Given the description of an element on the screen output the (x, y) to click on. 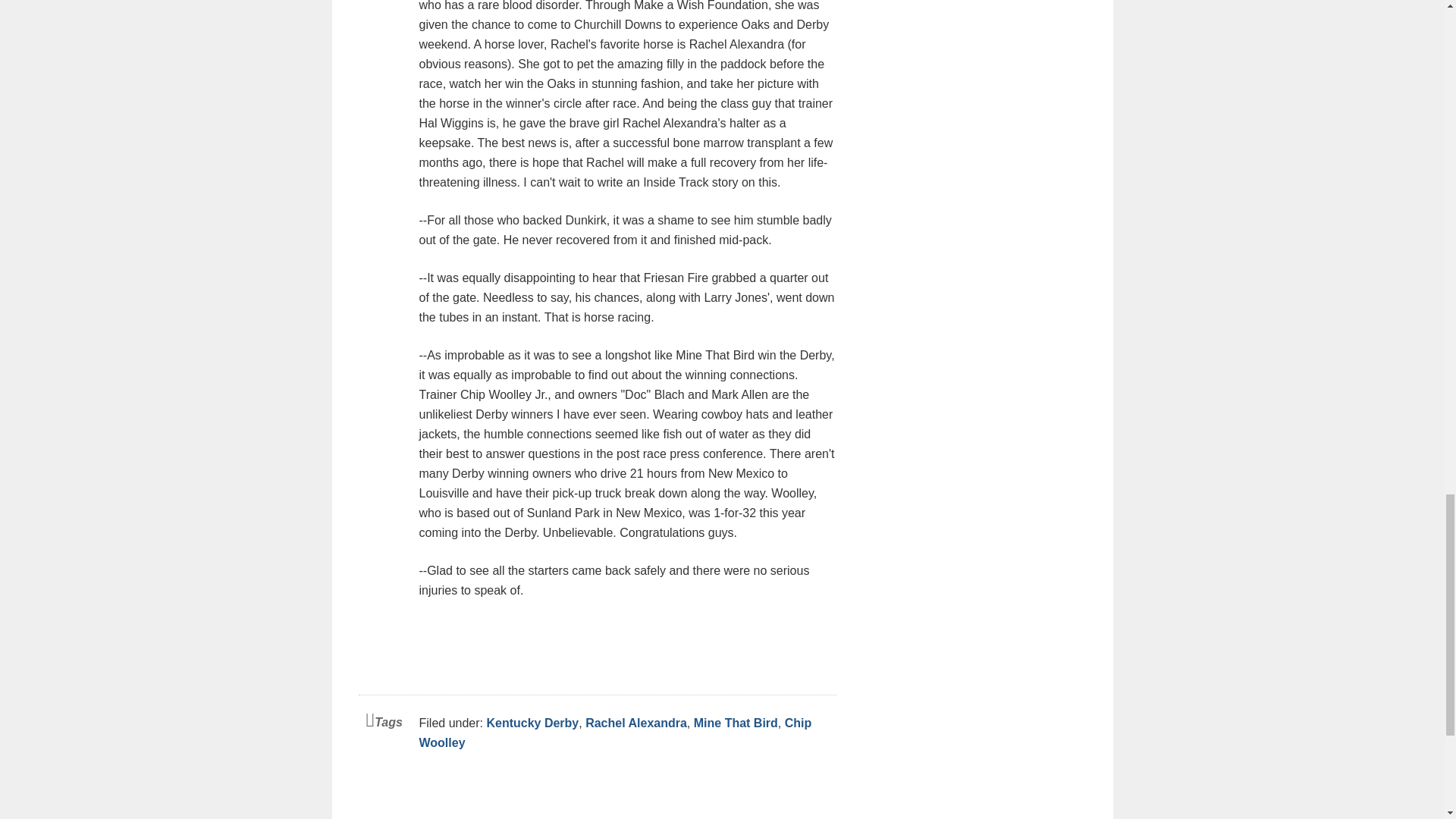
Mine That Bird (735, 722)
Chip Woolley (614, 732)
Kentucky Derby (532, 722)
Rachel Alexandra (636, 722)
